Given the description of an element on the screen output the (x, y) to click on. 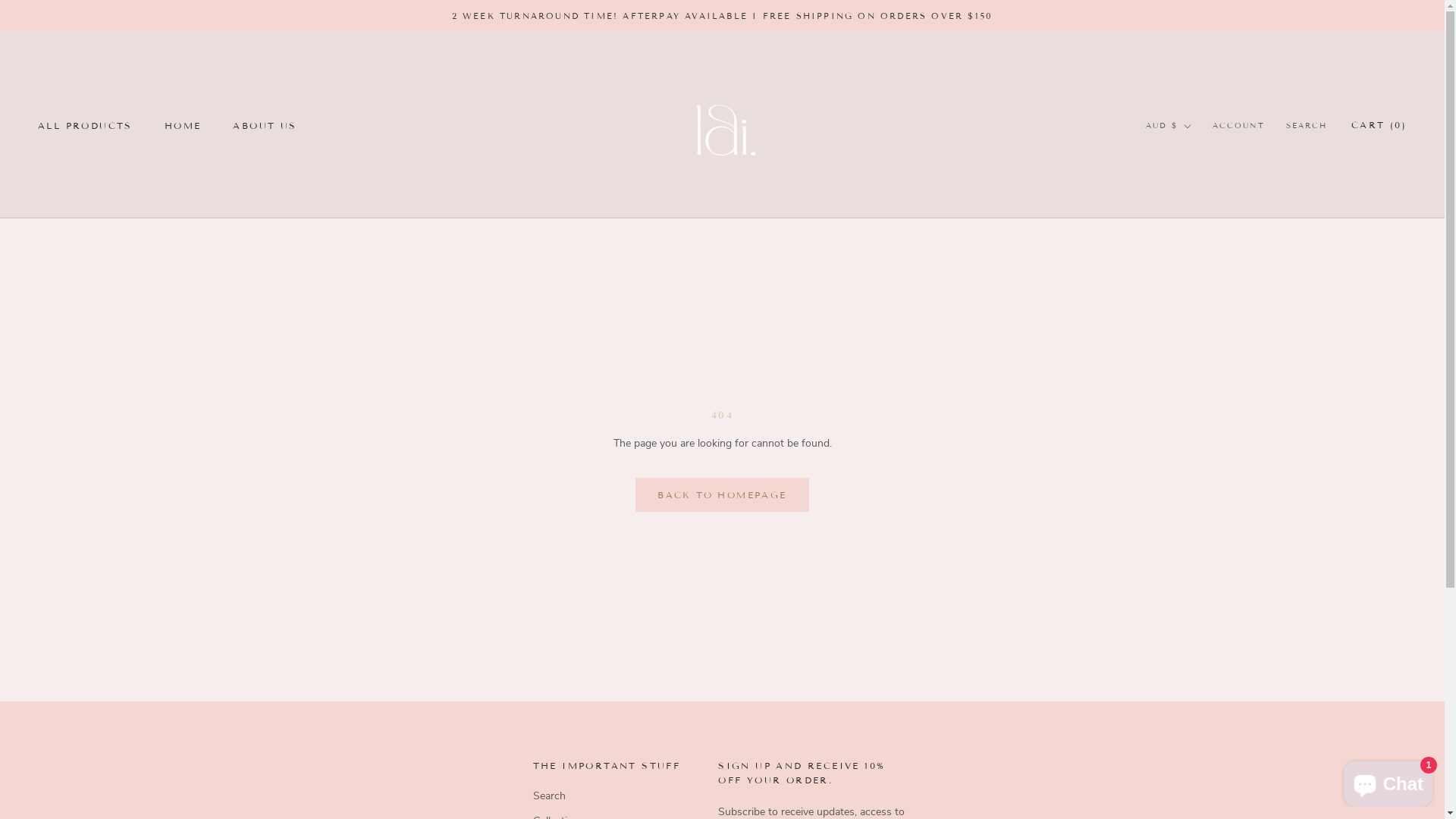
CART (0) Element type: text (1378, 124)
ANG Element type: text (1194, 238)
CRC Element type: text (1194, 599)
EGP Element type: text (1194, 740)
ALL PRODUCTS Element type: text (84, 125)
AWG Element type: text (1194, 278)
BBD Element type: text (1194, 338)
BACK TO HOMEPAGE Element type: text (721, 494)
SEARCH Element type: text (1306, 125)
ETB Element type: text (1194, 760)
AMD Element type: text (1194, 217)
EUR Element type: text (1194, 780)
AUD $ Element type: text (1168, 126)
ABOUT US
ABOUT US Element type: text (264, 125)
BZD Element type: text (1194, 499)
CDF Element type: text (1194, 539)
DZD Element type: text (1194, 720)
AUD Element type: text (1194, 257)
CZK Element type: text (1194, 640)
BOB Element type: text (1194, 439)
DOP Element type: text (1194, 700)
Search Element type: text (606, 795)
Shopify online store chat Element type: hover (1388, 780)
ALL Element type: text (1194, 198)
CNY Element type: text (1194, 579)
BDT Element type: text (1194, 358)
CHF Element type: text (1194, 559)
AZN Element type: text (1194, 298)
DJF Element type: text (1194, 659)
BGN Element type: text (1194, 378)
AFN Element type: text (1194, 177)
HOME
HOME Element type: text (182, 125)
FJD Element type: text (1194, 800)
BND Element type: text (1194, 418)
DKK Element type: text (1194, 680)
CVE Element type: text (1194, 619)
BWP Element type: text (1194, 479)
BSD Element type: text (1194, 458)
AED Element type: text (1194, 157)
CAD Element type: text (1194, 519)
BAM Element type: text (1194, 318)
BIF Element type: text (1194, 399)
ACCOUNT Element type: text (1238, 125)
